Given the description of an element on the screen output the (x, y) to click on. 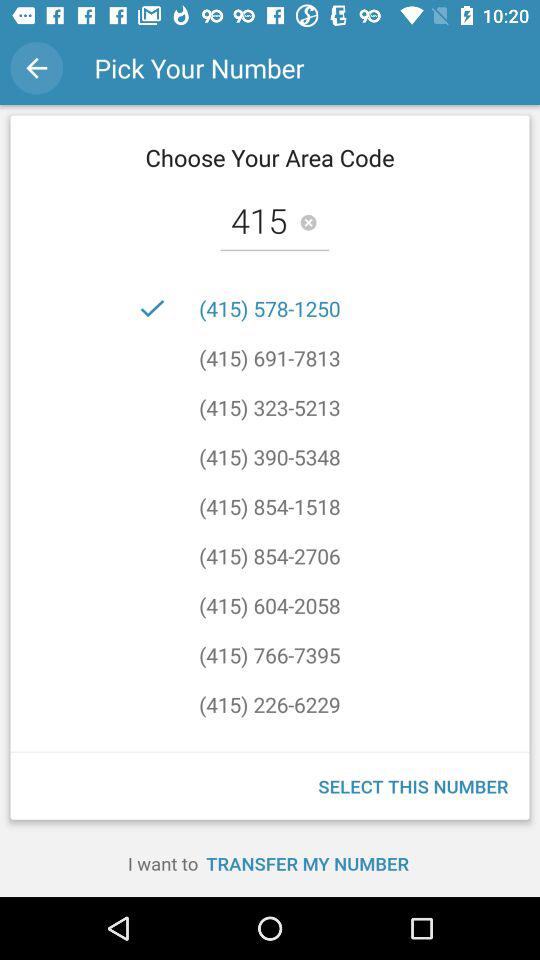
choose item below (415) 323-5213 (269, 456)
